Given the description of an element on the screen output the (x, y) to click on. 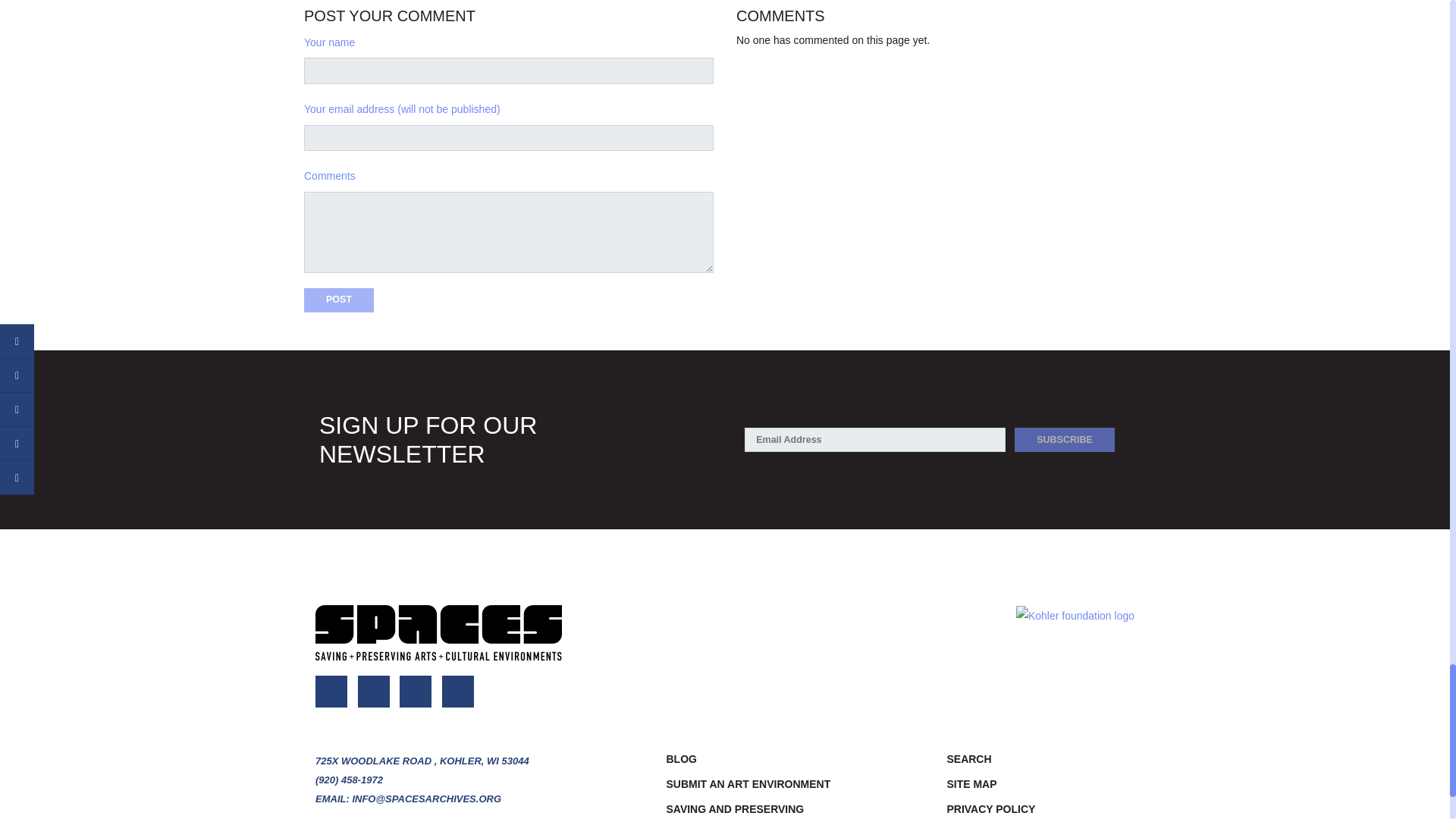
Post (339, 300)
Subscribe (1064, 439)
